Given the description of an element on the screen output the (x, y) to click on. 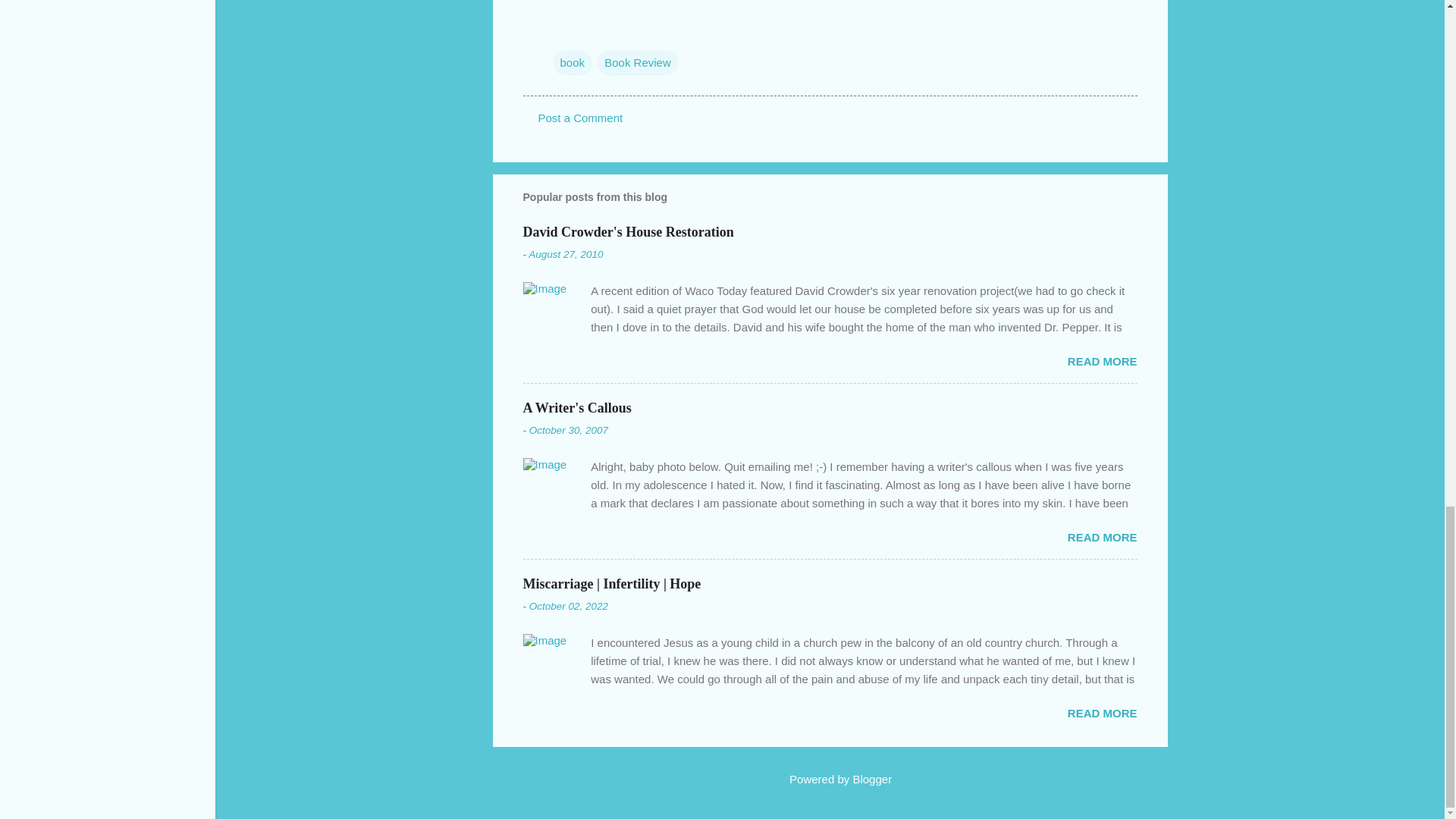
permanent link (565, 254)
October 30, 2007 (568, 430)
A Writer's Callous (576, 407)
Powered by Blogger (829, 779)
READ MORE (1102, 712)
Book Review (637, 61)
book (572, 61)
Email Post (562, 31)
Post a Comment (580, 117)
READ MORE (1102, 360)
READ MORE (1102, 536)
October 02, 2022 (568, 605)
August 27, 2010 (565, 254)
David Crowder's House Restoration (627, 231)
